Given the description of an element on the screen output the (x, y) to click on. 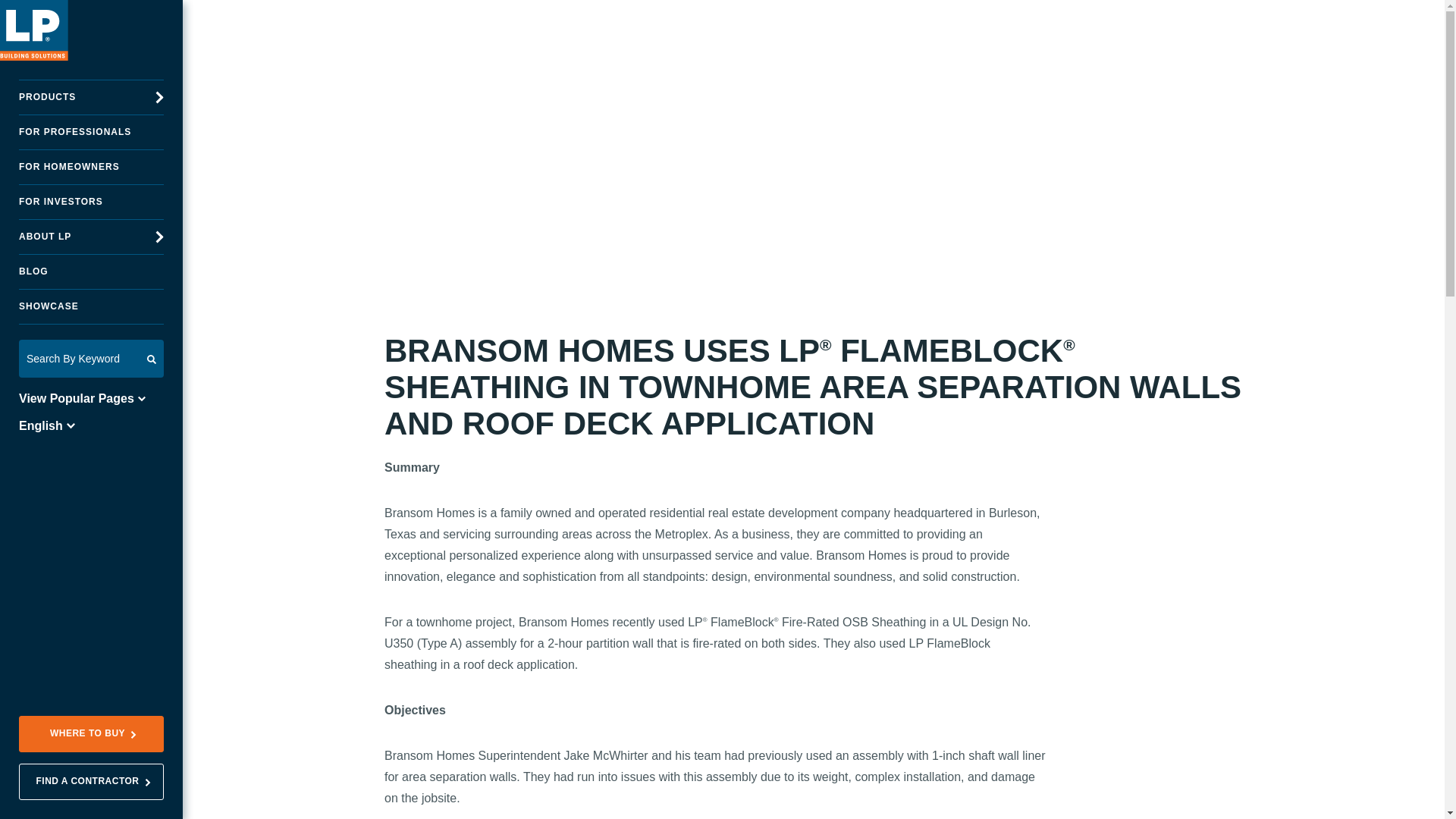
FOR HOMEOWNERS (90, 166)
BLOG (90, 271)
FOR PROFESSIONALS (90, 132)
FOR INVESTORS (90, 202)
WHERE TO BUY (90, 733)
SHOWCASE (90, 306)
FIND A CONTRACTOR (90, 781)
